Given the description of an element on the screen output the (x, y) to click on. 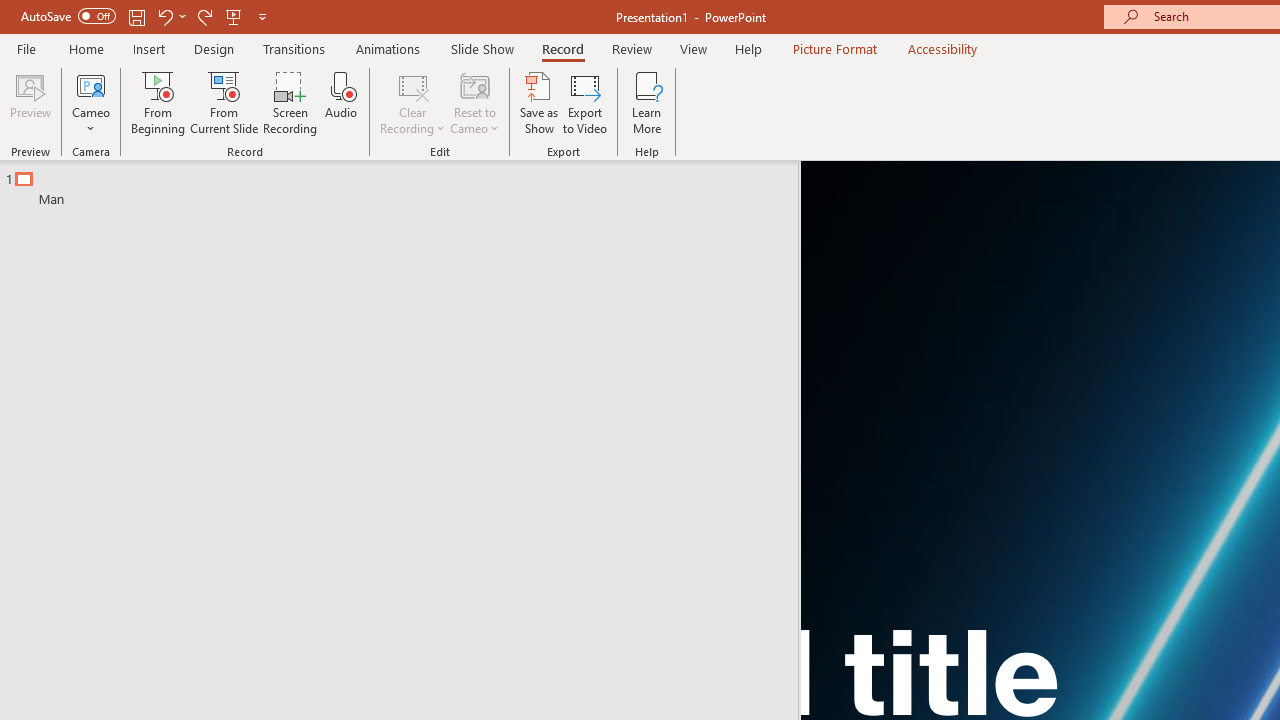
Animations (388, 48)
Picture Format (834, 48)
From Current Slide... (224, 102)
Quick Access Toolbar (145, 16)
From Beginning... (158, 102)
Home (86, 48)
Learn More (646, 102)
Clear Recording (412, 102)
Reset to Cameo (474, 102)
Design (214, 48)
From Beginning (234, 15)
